Given the description of an element on the screen output the (x, y) to click on. 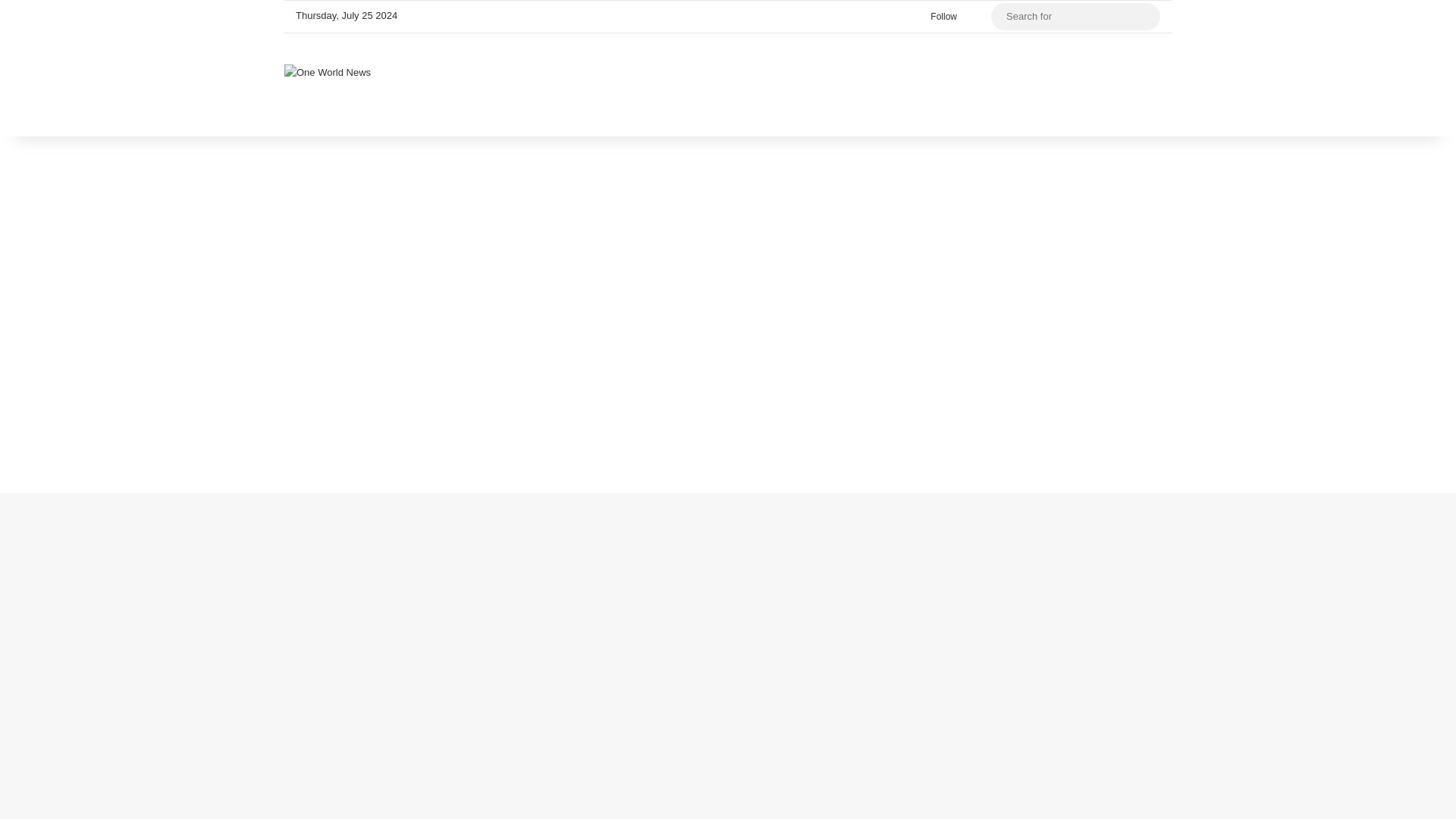
One World News (327, 71)
Follow (941, 16)
Search for (1075, 16)
Sidebar (979, 16)
Search for (1144, 16)
